Given the description of an element on the screen output the (x, y) to click on. 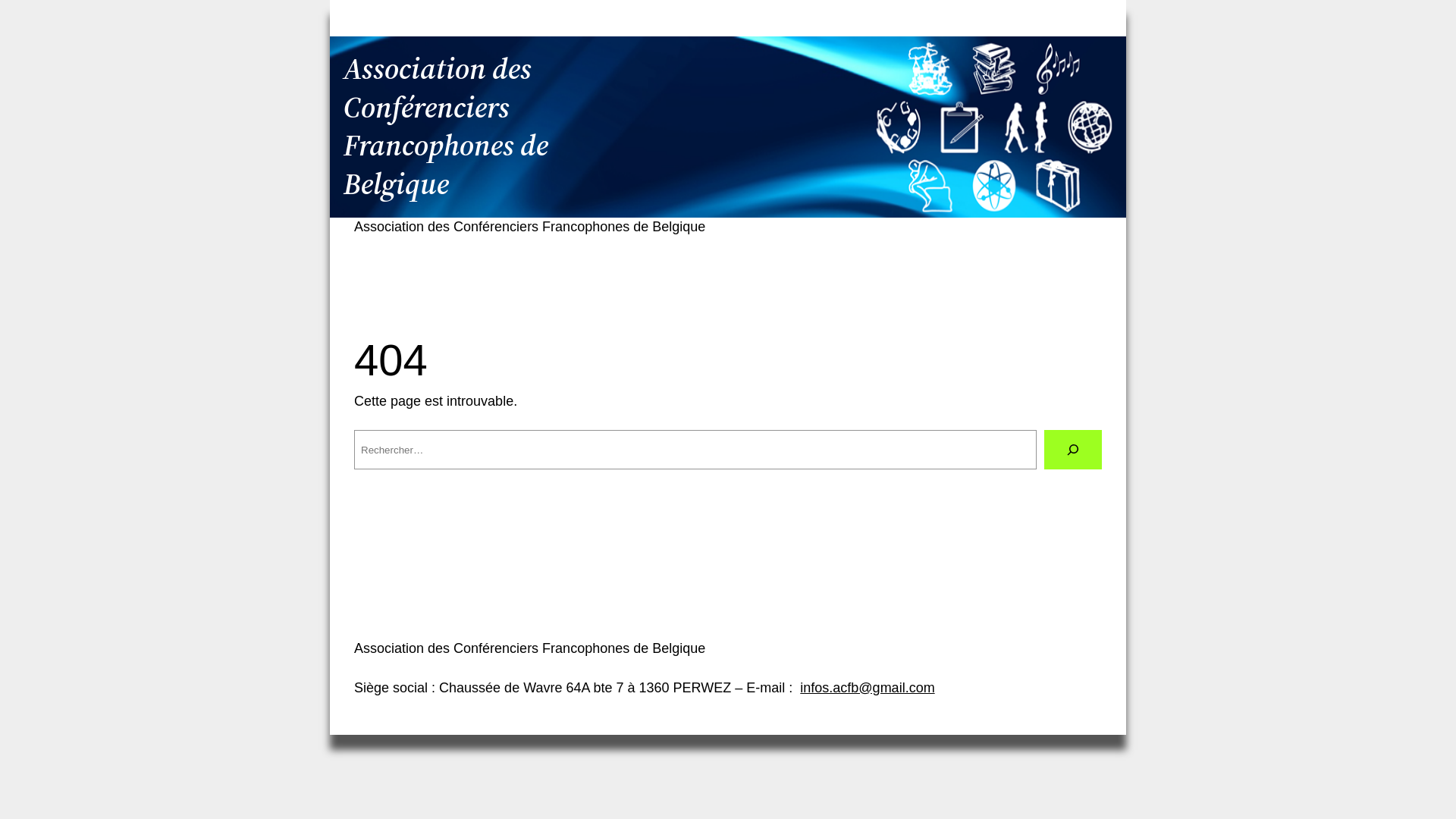
infos.acfb@gmail.com Element type: text (867, 687)
